Given the description of an element on the screen output the (x, y) to click on. 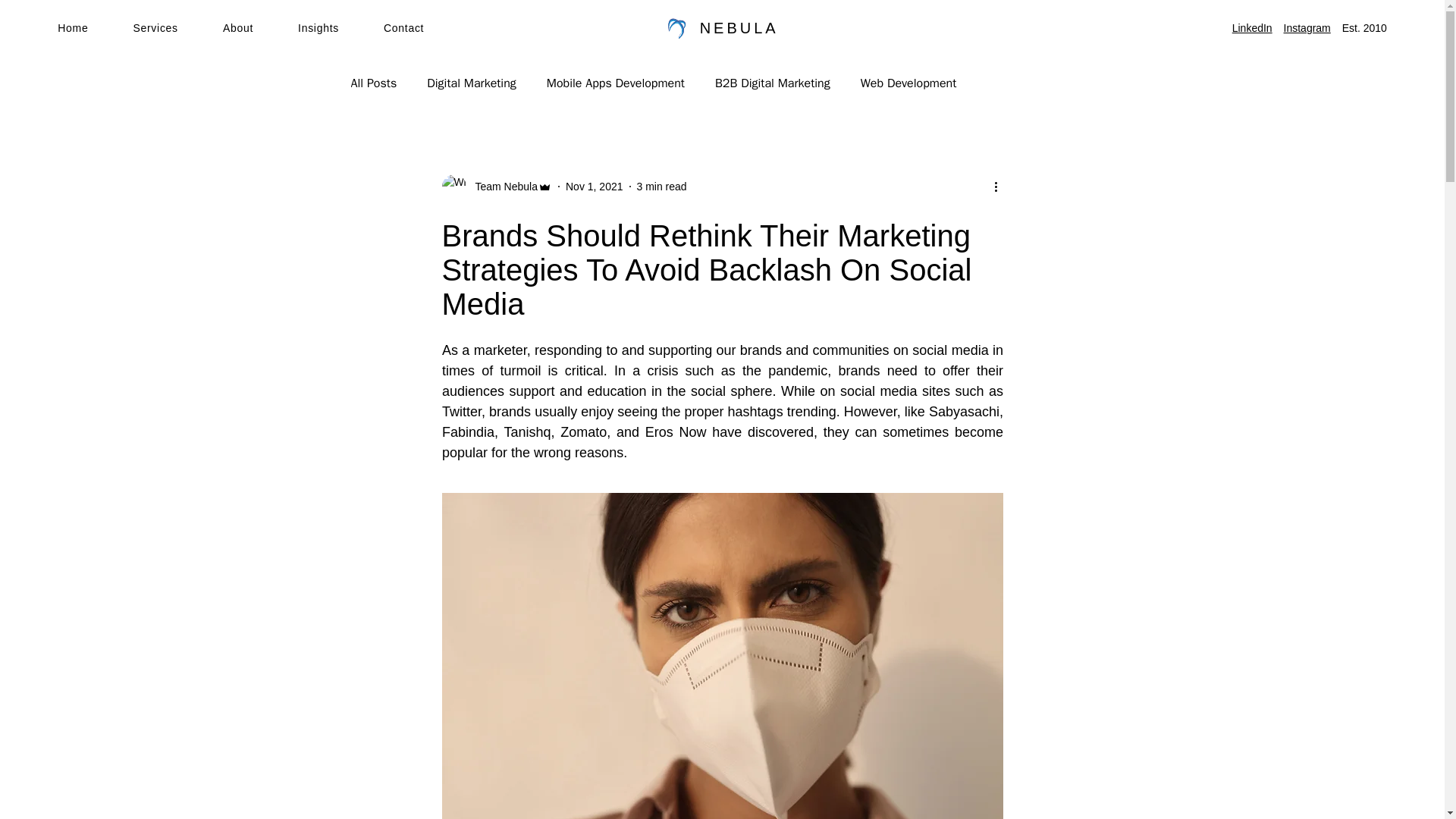
3 min read (662, 186)
All Posts (373, 83)
Team Nebula (501, 186)
Contact (426, 28)
Mobile Apps Development (615, 83)
NEBULA (739, 27)
Home (95, 28)
B2B Digital Marketing (771, 83)
Web Development (908, 83)
About (260, 28)
